Given the description of an element on the screen output the (x, y) to click on. 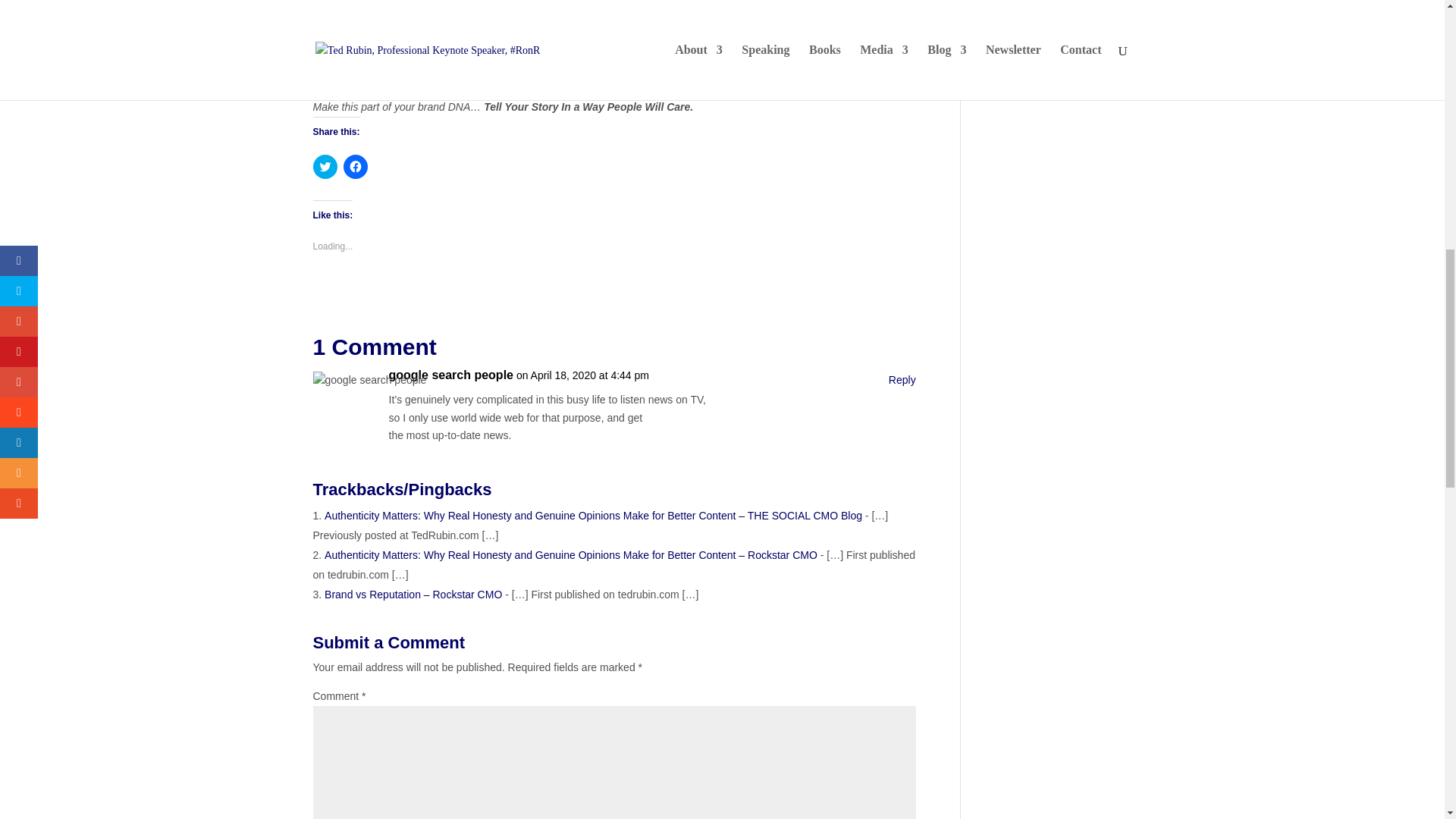
Reply (901, 380)
google search people (450, 375)
Click to share on Twitter (324, 166)
Click to share on Facebook (354, 166)
